Given the description of an element on the screen output the (x, y) to click on. 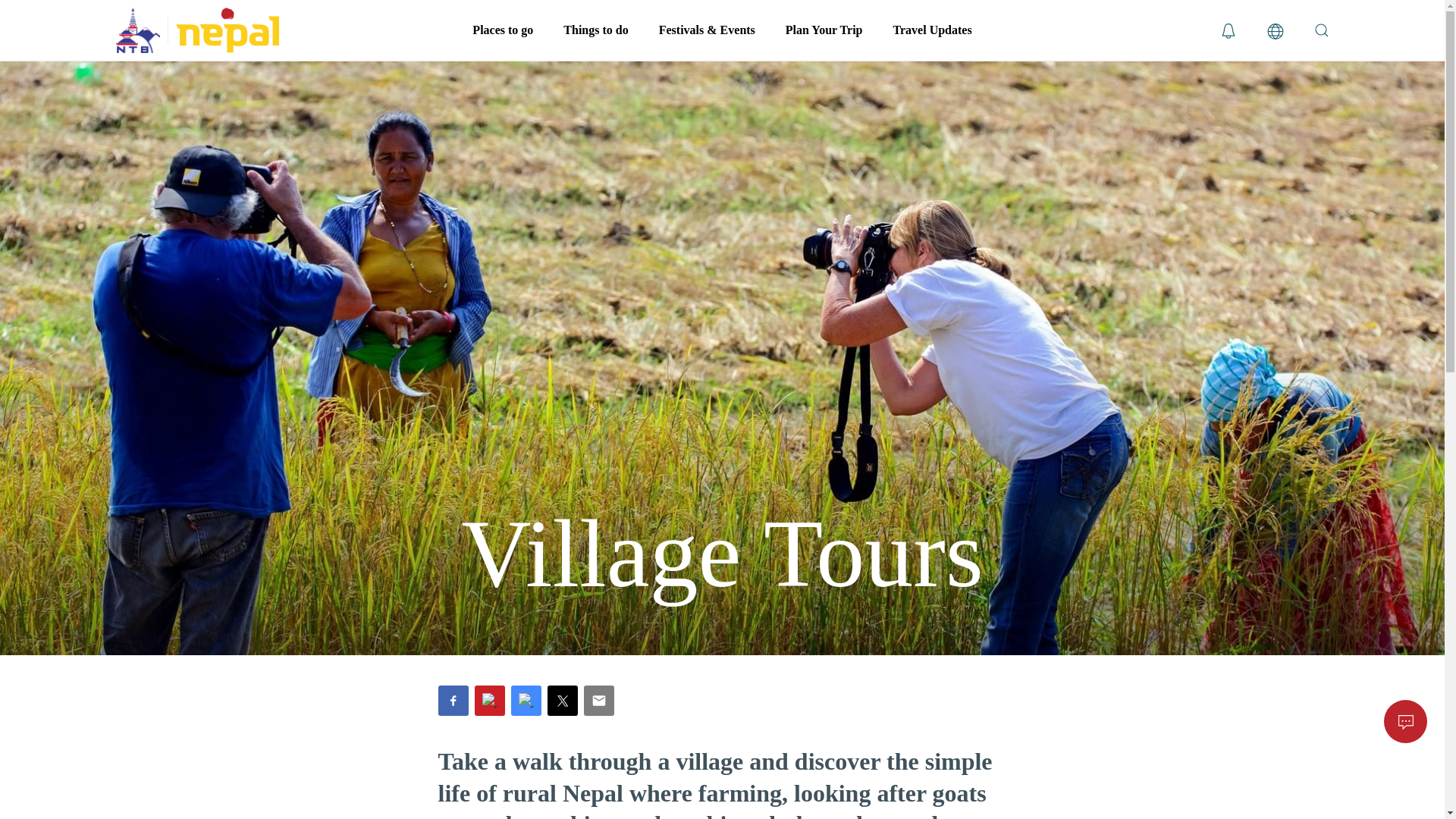
Places to go (502, 30)
Things to do (595, 30)
Village Tours (721, 553)
